Given the description of an element on the screen output the (x, y) to click on. 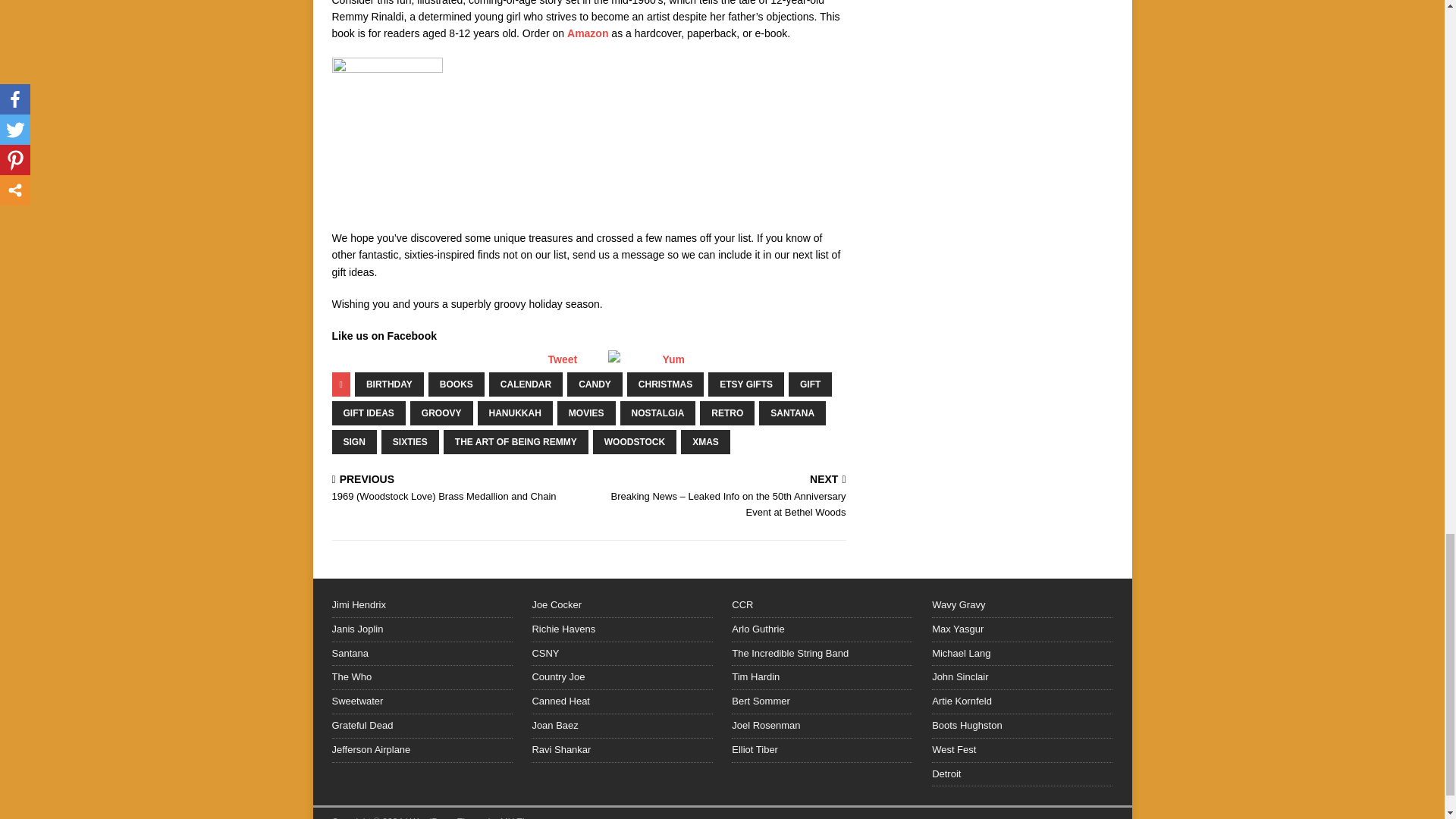
CANDY (595, 384)
BIRTHDAY (389, 384)
CALENDAR (525, 384)
Amazon (587, 33)
BOOKS (456, 384)
Tweet (561, 358)
Yum (673, 358)
